Given the description of an element on the screen output the (x, y) to click on. 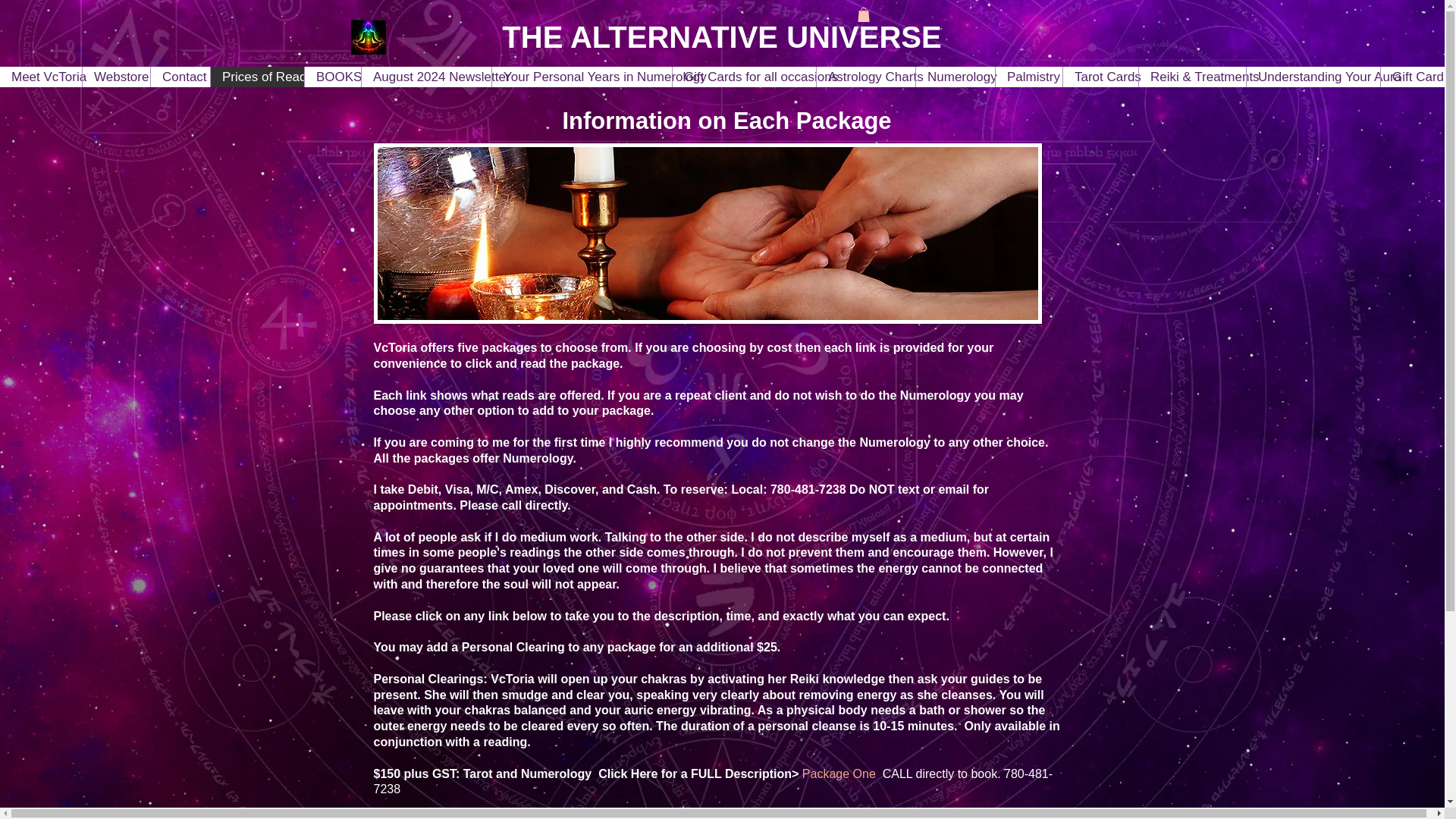
August 2024 Newsletter (426, 76)
Contact (179, 76)
Meet VcToria (40, 76)
Astrology Charts (865, 76)
Tarot Cards (1100, 76)
Numerology (954, 76)
Prices of Reads (256, 76)
Palmistry (1028, 76)
Your Personal Years in Numerology (581, 76)
Webstore (115, 76)
